Given the description of an element on the screen output the (x, y) to click on. 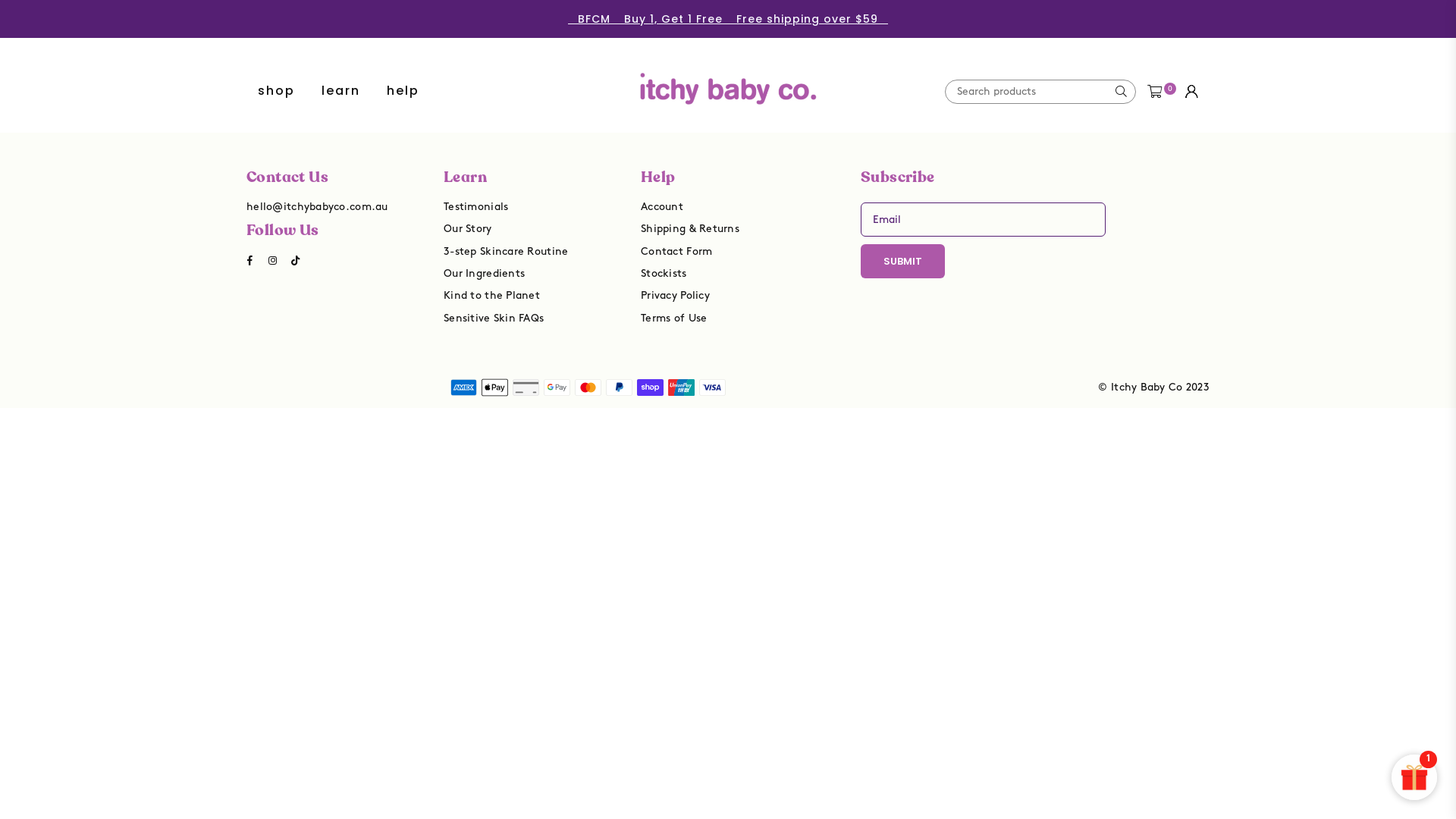
Terms of Use Element type: text (673, 318)
SUBMIT Element type: text (902, 261)
TikTok Element type: text (295, 259)
Instagram Element type: text (272, 259)
3-step Skincare Routine Element type: text (505, 251)
hello@itchybabyco.com.au Element type: text (317, 206)
Facebook Element type: text (249, 259)
1 Element type: text (1414, 777)
Our Ingredients Element type: text (483, 273)
SUBMIT Element type: text (1120, 91)
learn Element type: text (340, 91)
Kind to the Planet Element type: text (491, 295)
Privacy Policy Element type: text (674, 295)
Account Element type: text (661, 206)
Logout Element type: hover (1191, 90)
shop Element type: text (276, 91)
ITCHY BABY CO. Element type: text (727, 76)
help Element type: text (402, 91)
CONTINUE SHOPPING Element type: text (727, 298)
Testimonials Element type: text (475, 206)
Our Story Element type: text (467, 228)
Contact Form Element type: text (676, 251)
Shipping & Returns Element type: text (689, 228)
Sensitive Skin FAQs Element type: text (493, 318)
Stockists Element type: text (663, 273)
0 Element type: text (1154, 90)
